Given the description of an element on the screen output the (x, y) to click on. 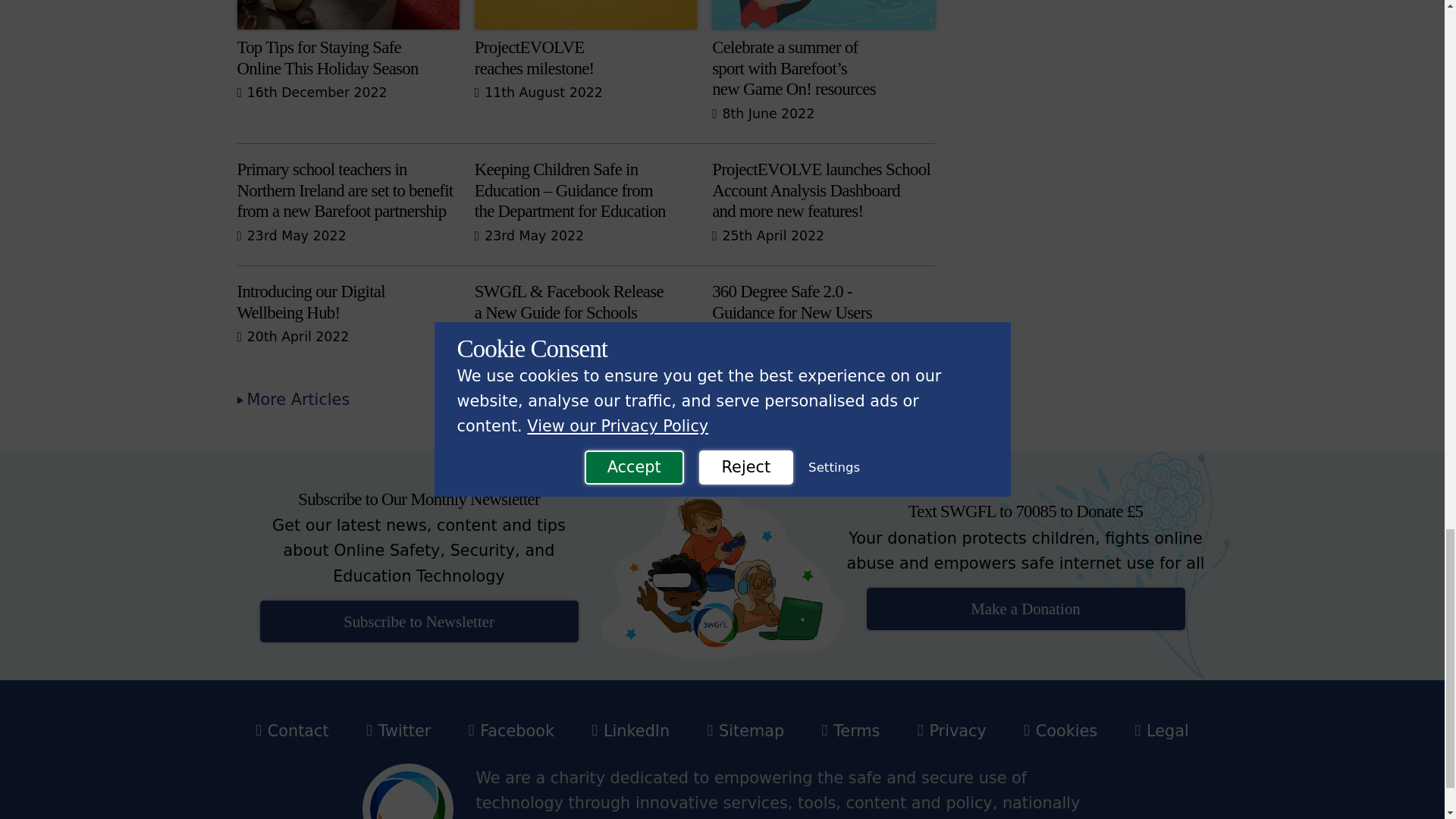
More Articles (822, 308)
Facebook (292, 399)
Twitter (511, 731)
Subscribe to Newsletter (398, 731)
Make a Donation (418, 621)
Contact (346, 308)
